Given the description of an element on the screen output the (x, y) to click on. 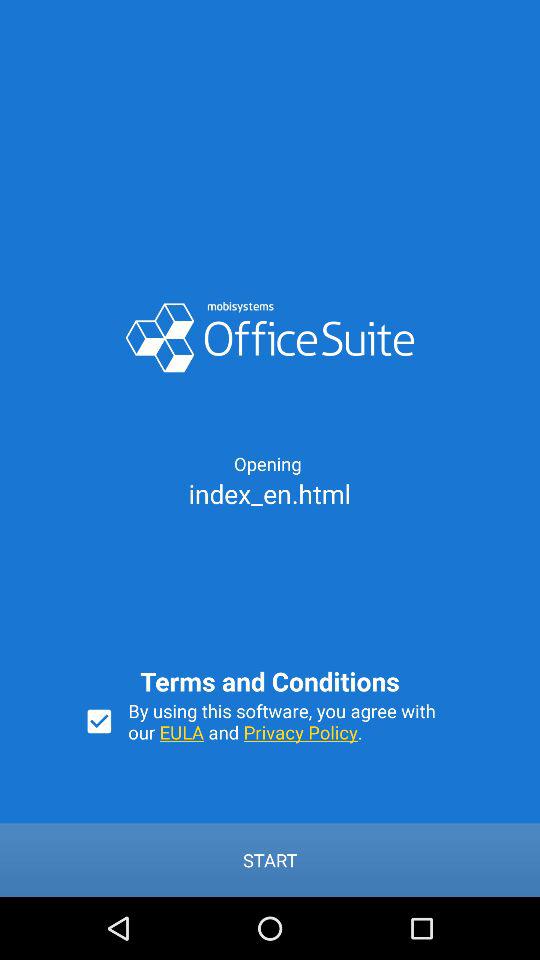
select icon above start (99, 721)
